Given the description of an element on the screen output the (x, y) to click on. 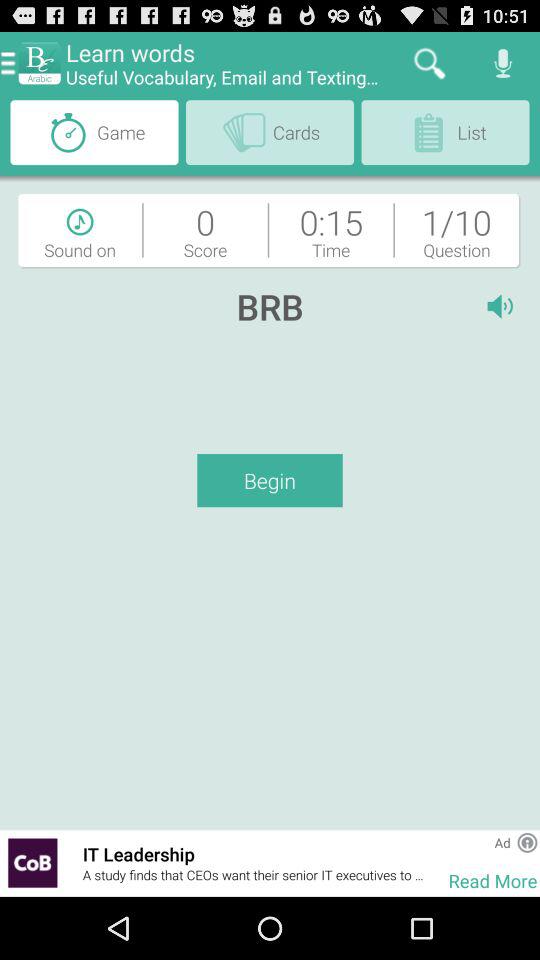
advertisement information (527, 842)
